Given the description of an element on the screen output the (x, y) to click on. 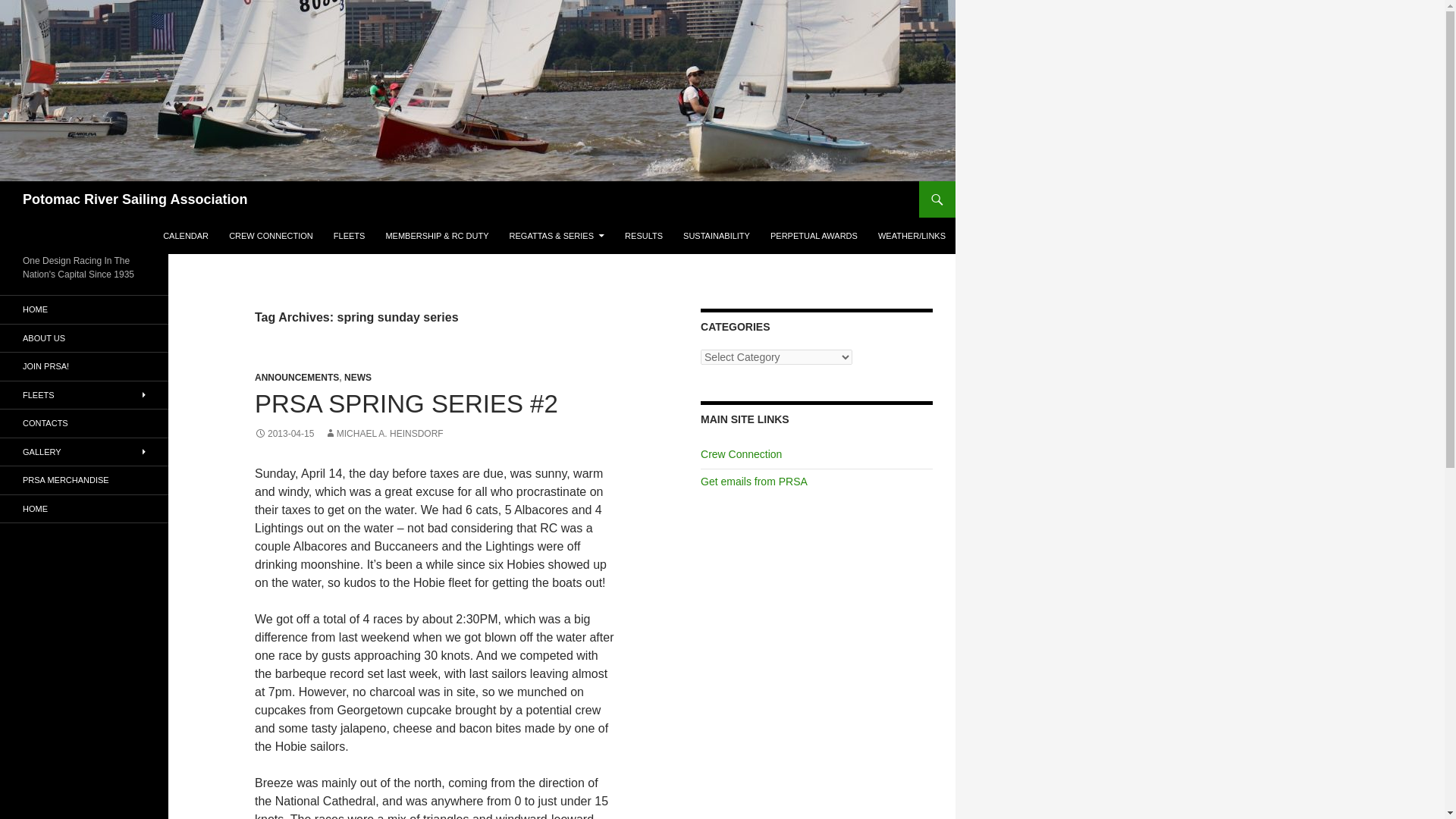
FLEETS (84, 394)
ANNOUNCEMENTS (296, 377)
RESULTS (643, 235)
HOME (84, 309)
2013-04-15 (284, 433)
Potomac River Sailing Association (135, 198)
FLEETS (349, 235)
PERPETUAL AWARDS (813, 235)
NEWS (357, 377)
CALENDAR (185, 235)
